Given the description of an element on the screen output the (x, y) to click on. 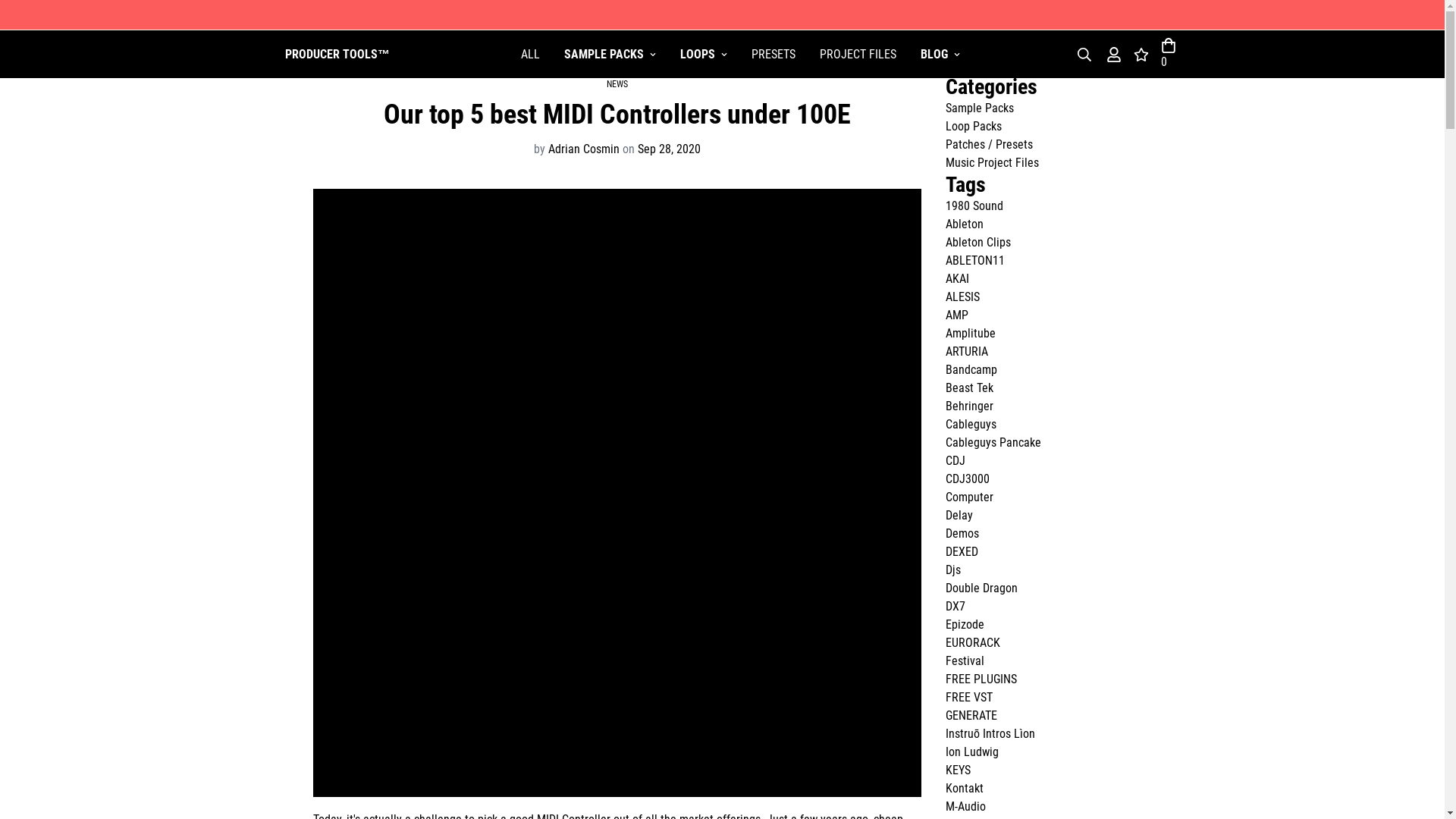
Show articles tagged Behringer (968, 405)
Show articles tagged ALESIS (961, 296)
Show articles tagged CDJ3000 (966, 478)
ALL (529, 53)
PROJECT FILES (856, 53)
PRESETS (772, 53)
Show articles tagged ARTURIA (965, 350)
Show articles tagged ableton clips (977, 242)
Show articles tagged Cableguys Pancake (992, 441)
Show articles tagged AMP (956, 314)
